Given the description of an element on the screen output the (x, y) to click on. 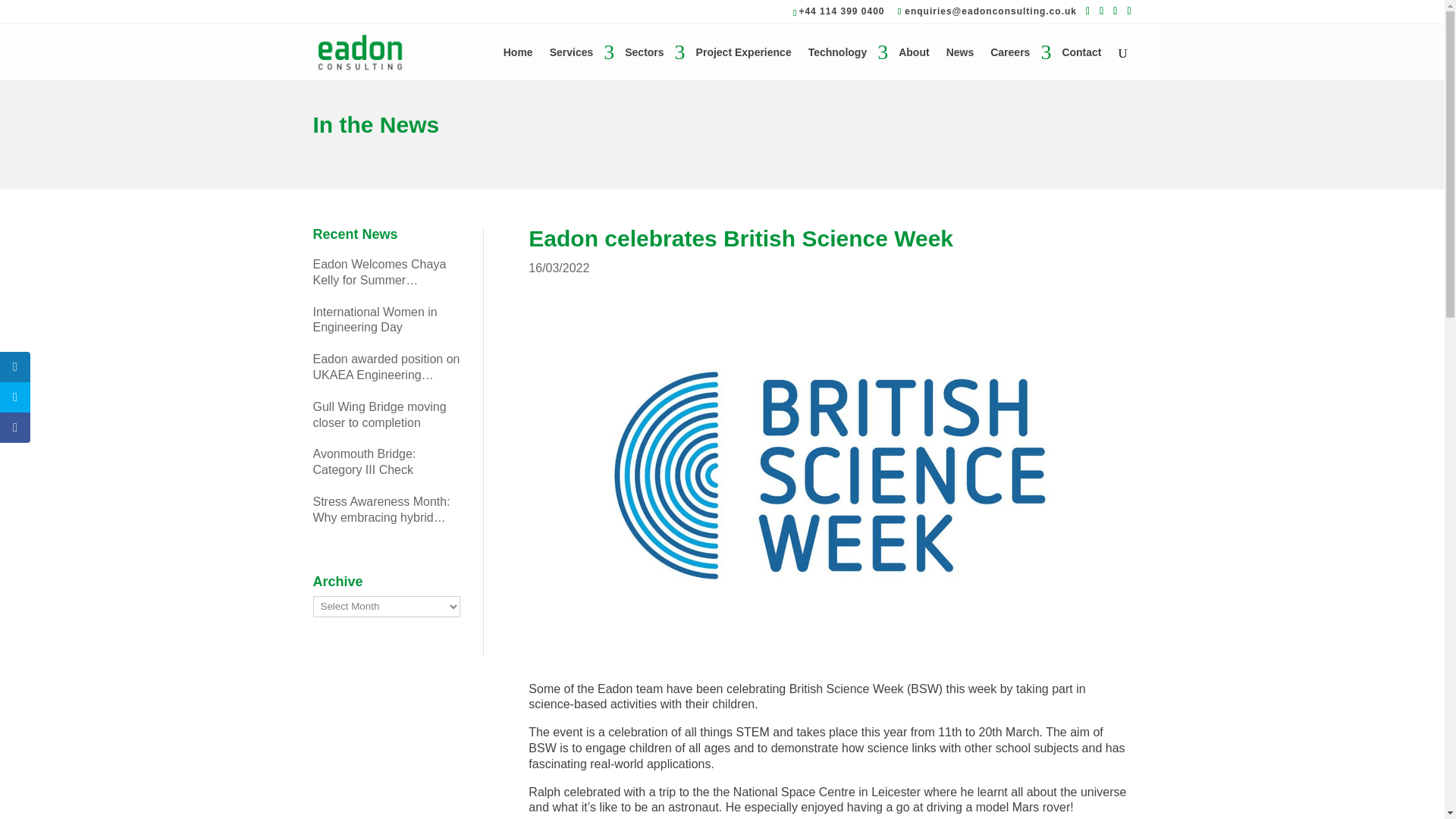
Careers (1017, 63)
About (913, 63)
Services (579, 63)
Sectors (651, 63)
Technology (845, 63)
Project Experience (743, 63)
Contact (1080, 63)
